Given the description of an element on the screen output the (x, y) to click on. 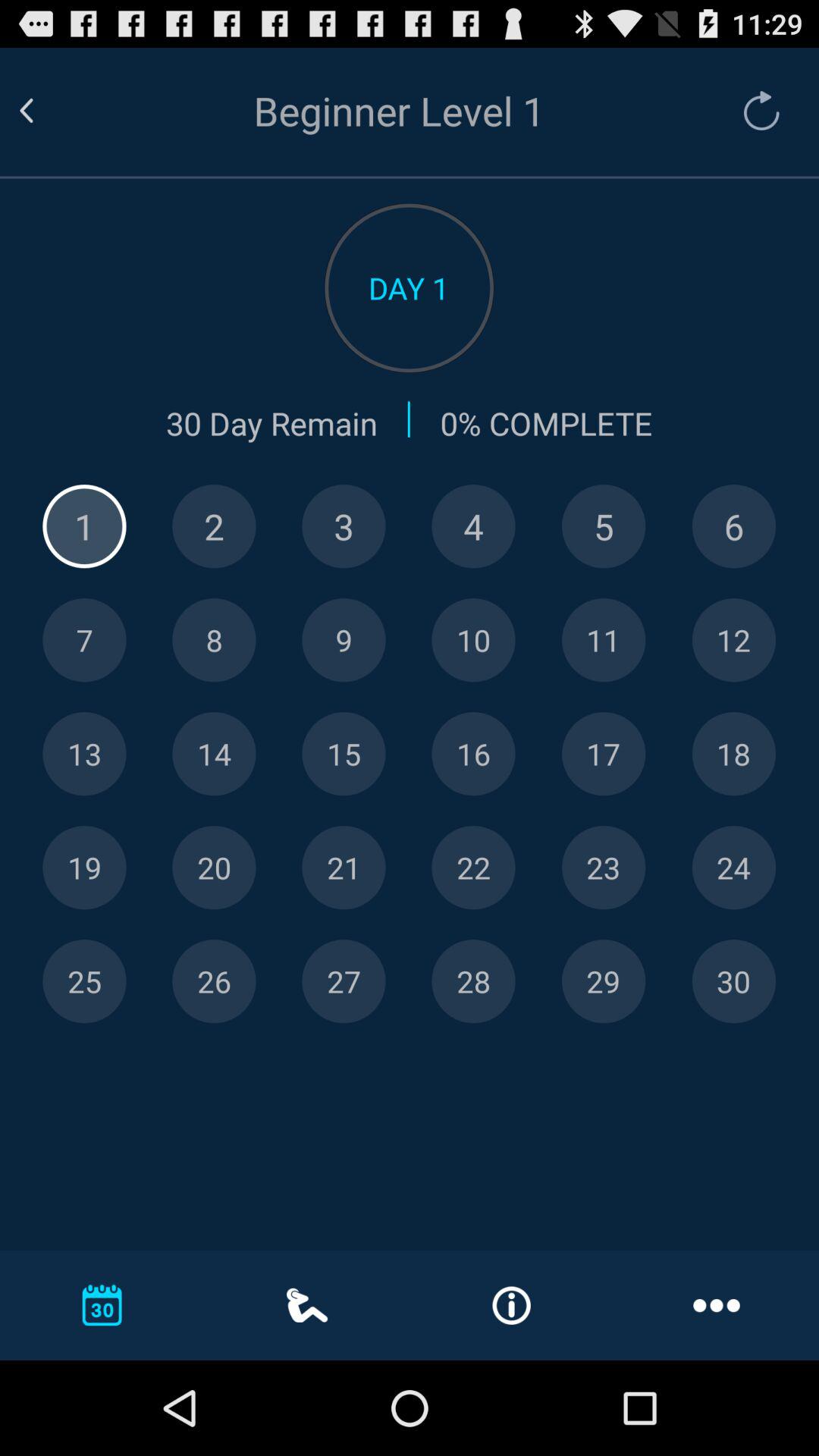
level 8 (213, 639)
